Given the description of an element on the screen output the (x, y) to click on. 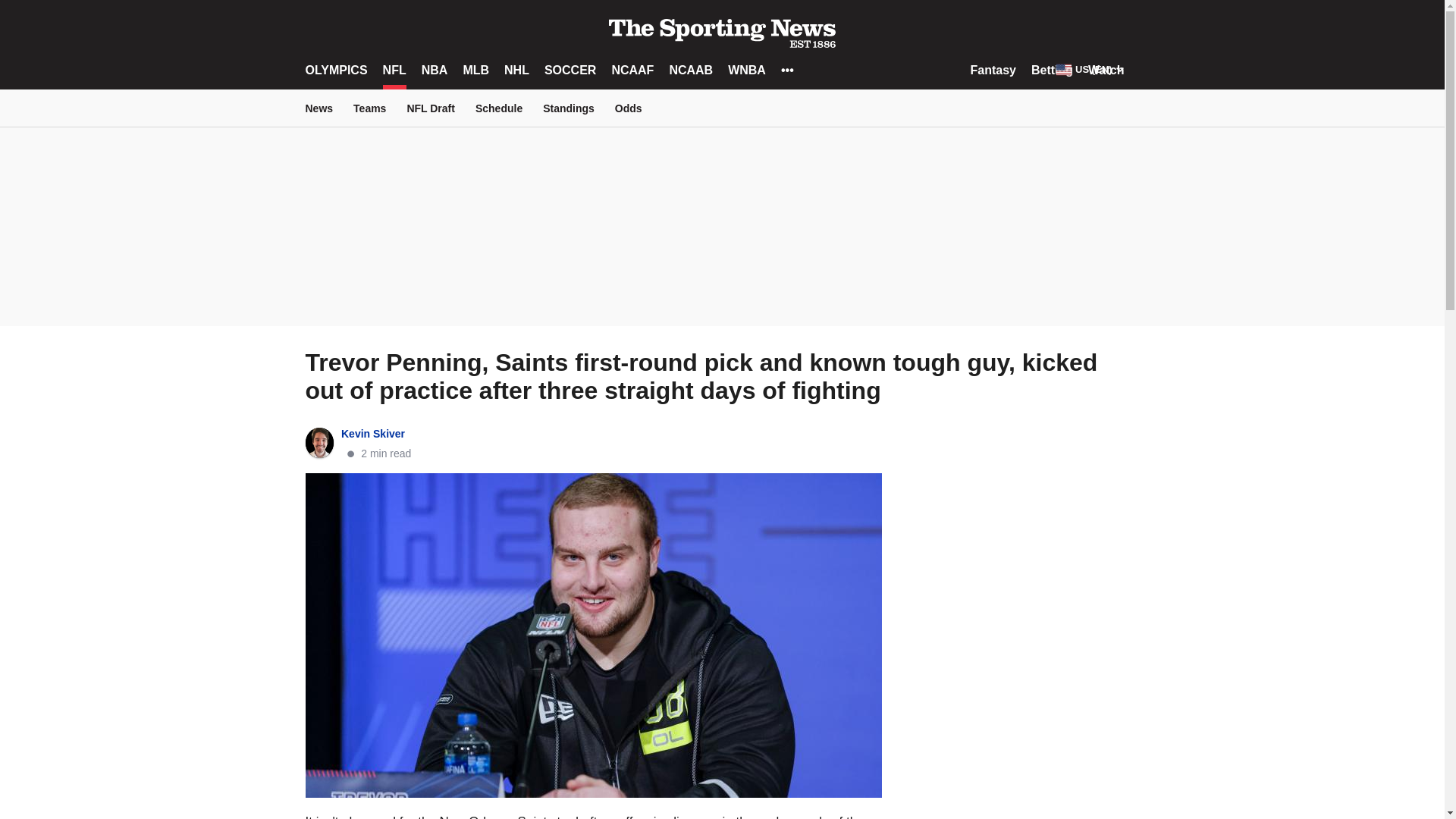
SOCCER (569, 70)
WNBA (746, 70)
NCAAB (690, 70)
OLYMPICS (335, 70)
NCAAF (632, 70)
